Given the description of an element on the screen output the (x, y) to click on. 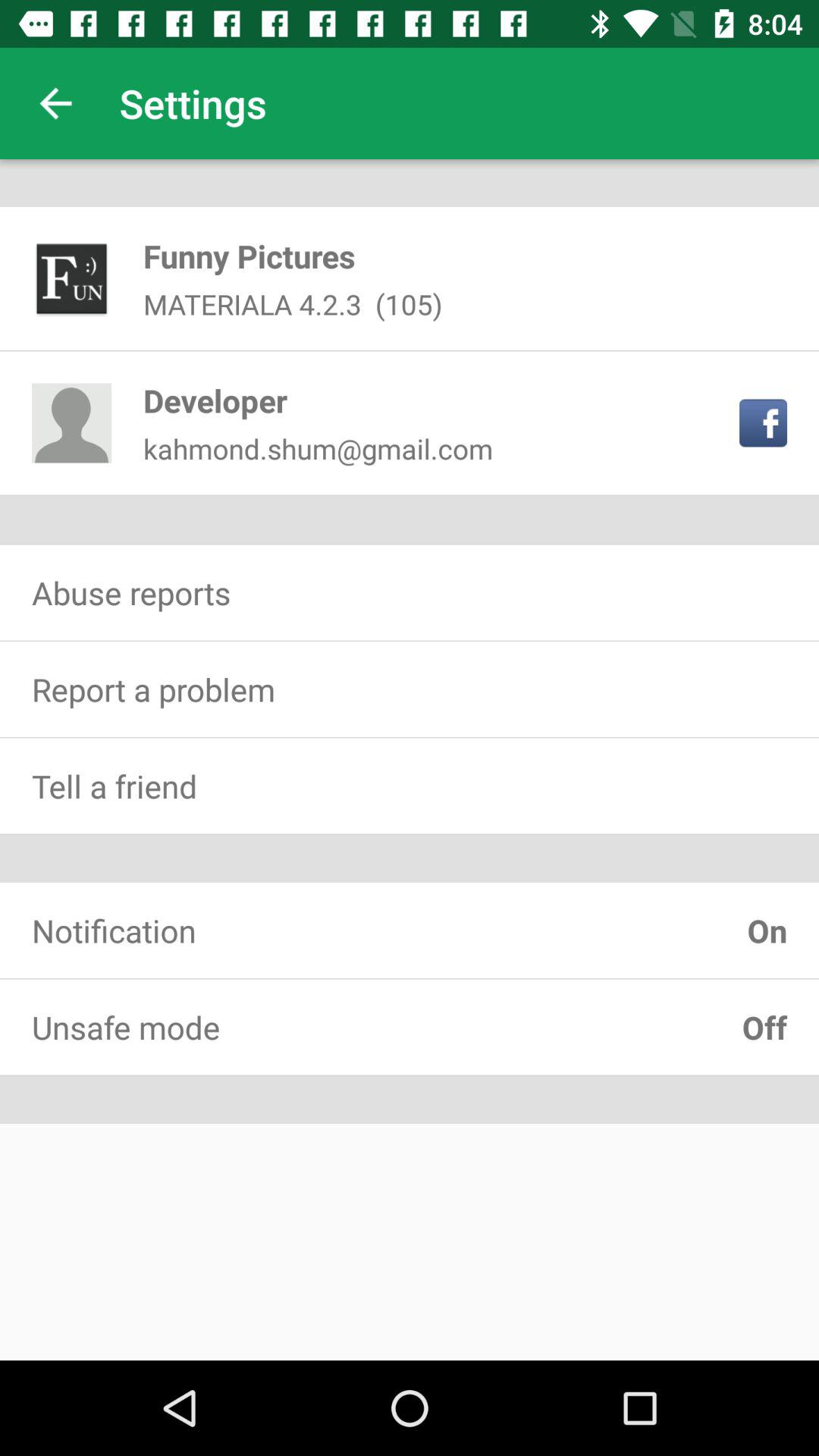
turn off app to the left of the settings icon (55, 103)
